Given the description of an element on the screen output the (x, y) to click on. 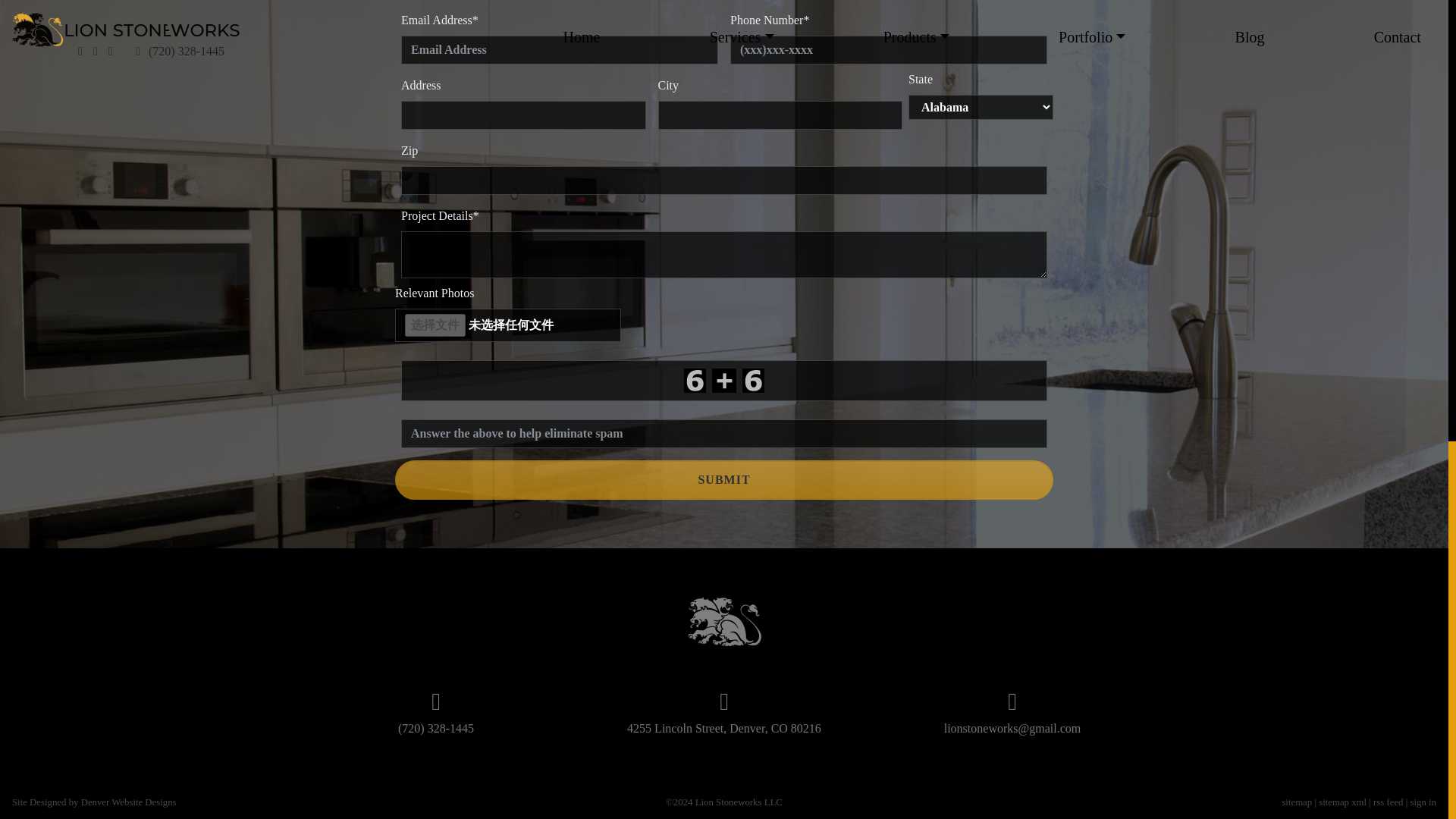
SUBMIT (723, 479)
sign in (1422, 801)
Denver Website Designs (128, 801)
sitemap (1296, 801)
4255 Lincoln Street, Denver, CO 80216 (724, 727)
sitemap xml (1343, 801)
rss feed (1388, 801)
